Given the description of an element on the screen output the (x, y) to click on. 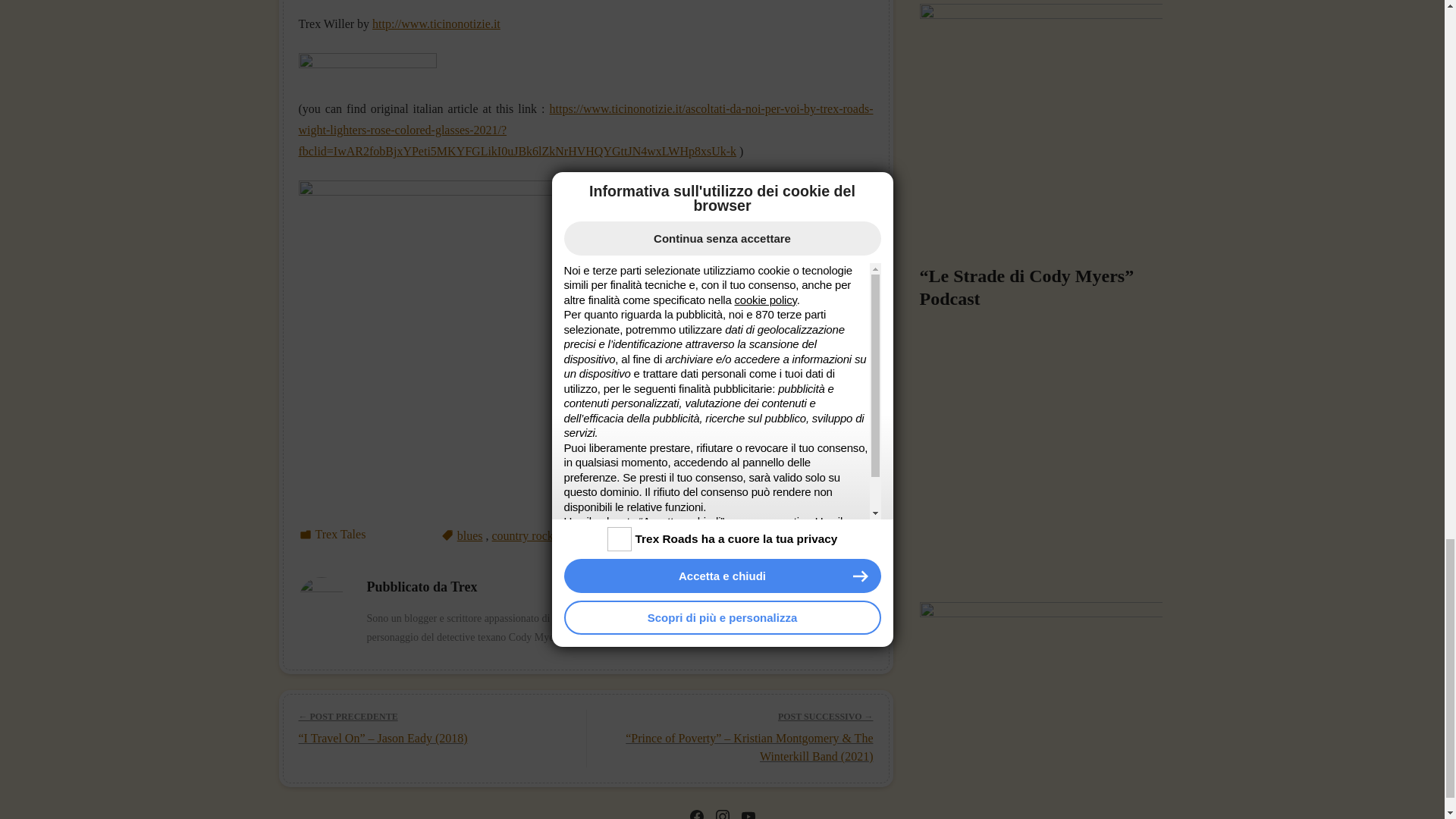
oklahoma (586, 535)
rock (674, 535)
rose colored glasses (743, 535)
Mostra altri articoli (607, 636)
blues (470, 535)
weight lighters (836, 535)
country rock (522, 535)
Trex Tales (340, 533)
red dirt (637, 535)
